Given the description of an element on the screen output the (x, y) to click on. 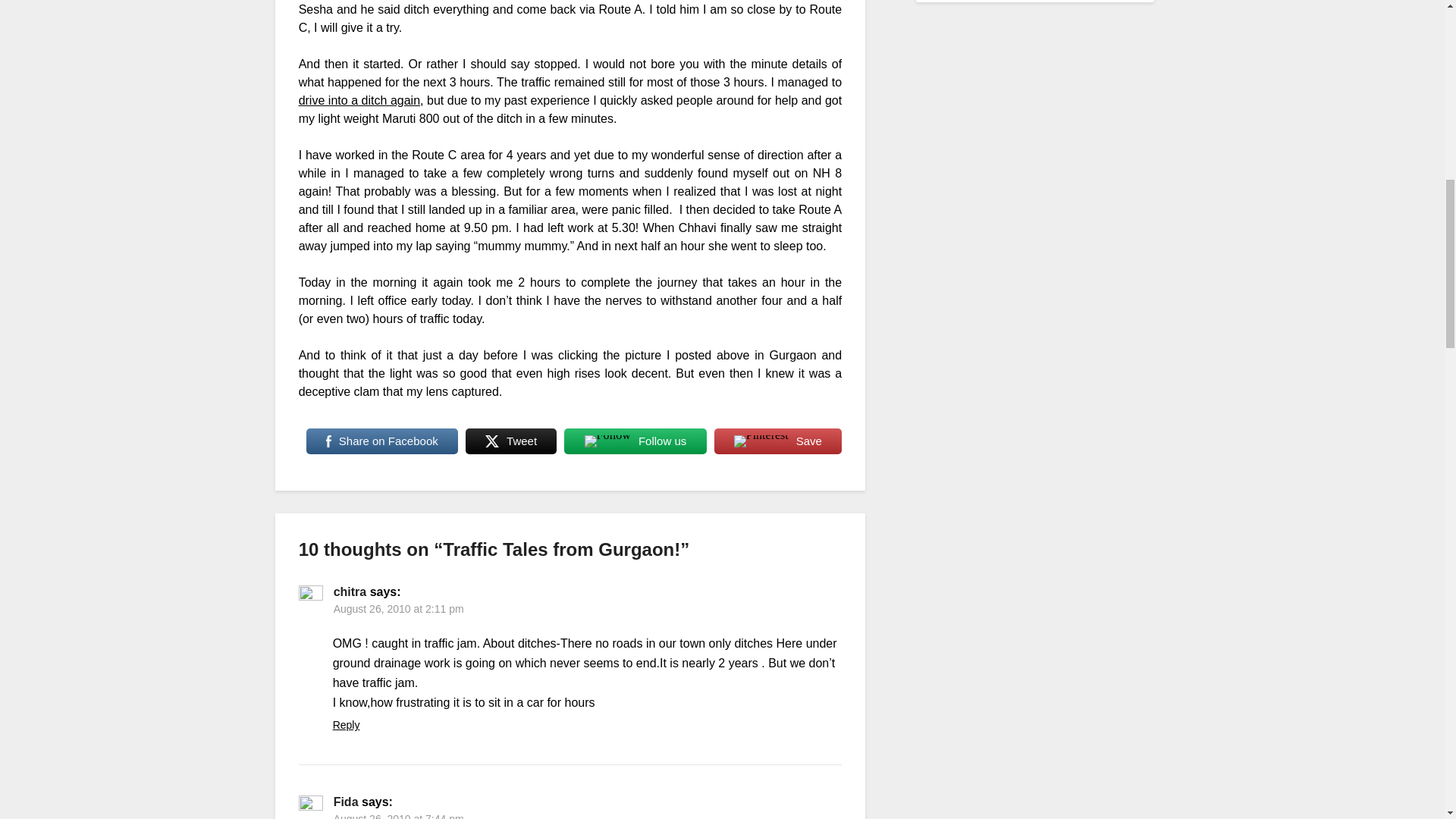
Tweet (510, 440)
Share on Facebook (381, 440)
Save (778, 440)
August 26, 2010 at 2:11 pm (398, 608)
Reply (346, 725)
chitra (349, 591)
Follow us (635, 440)
drive into a ditch again (359, 100)
Fida (345, 801)
August 26, 2010 at 7:44 pm (398, 816)
